Given the description of an element on the screen output the (x, y) to click on. 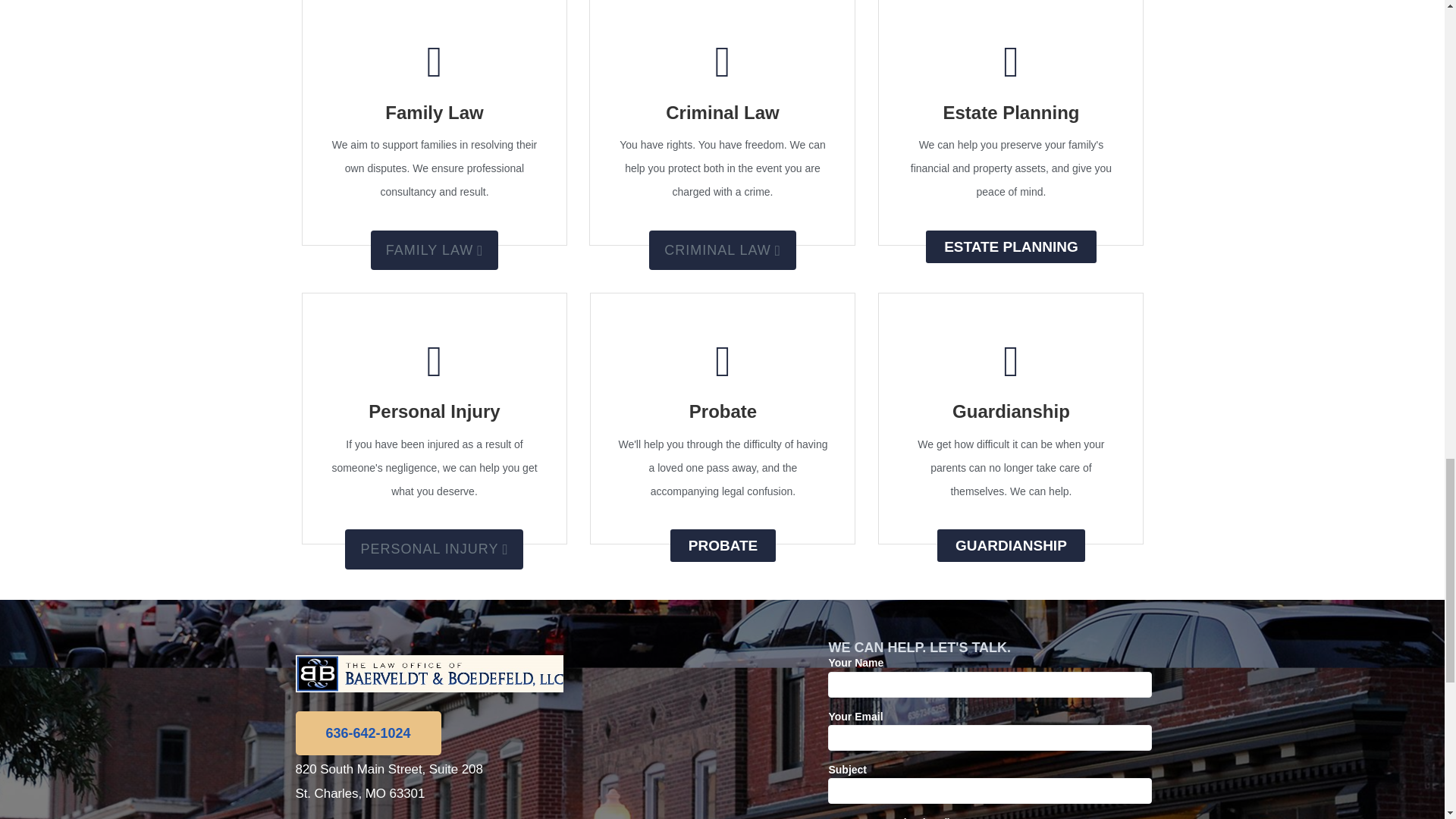
820 South Main Street, Ste 208 Saint Charles, MO 63301-2726 (429, 816)
FAMILY LAW (435, 250)
